Given the description of an element on the screen output the (x, y) to click on. 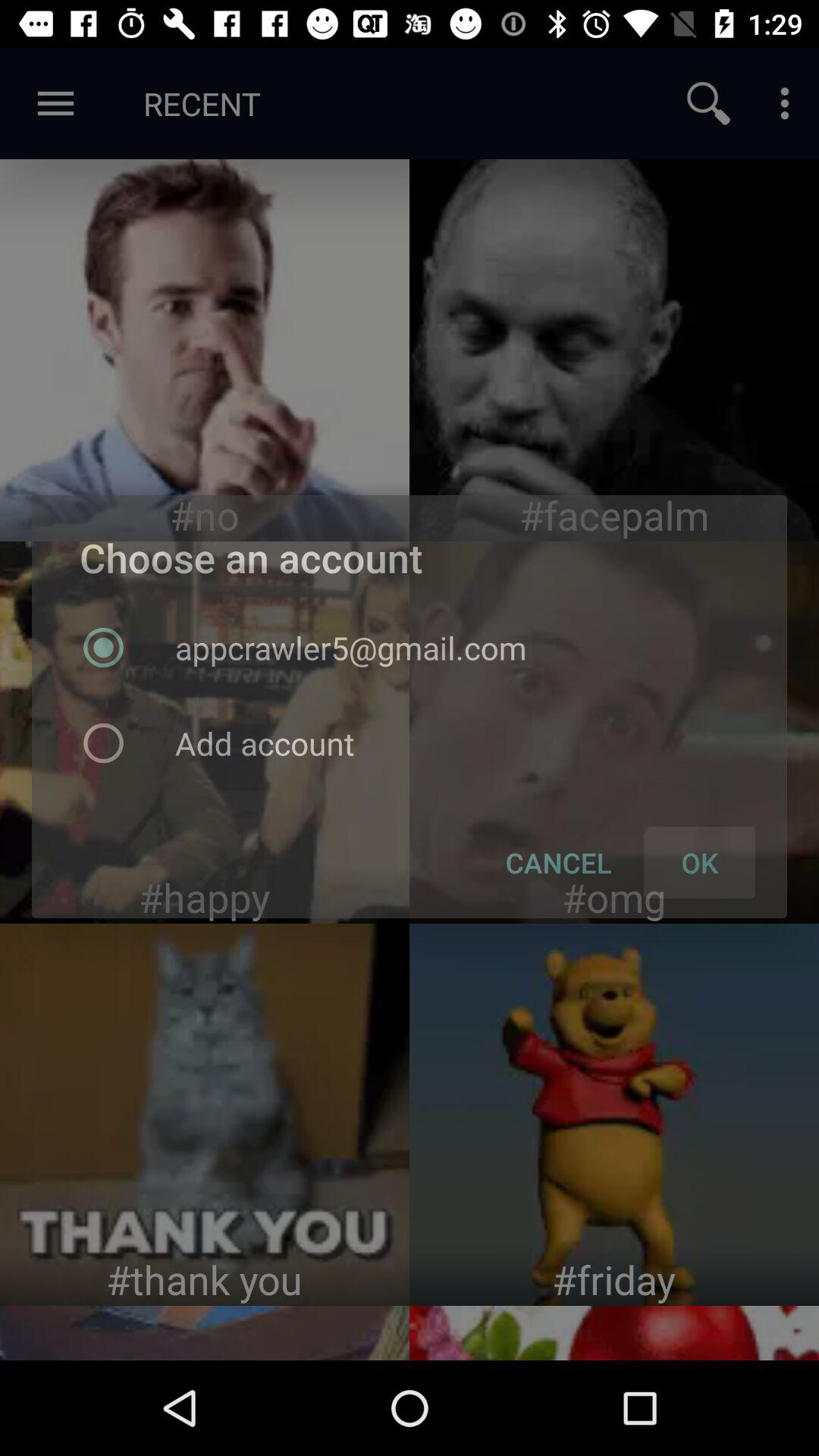
searching options (708, 103)
